Given the description of an element on the screen output the (x, y) to click on. 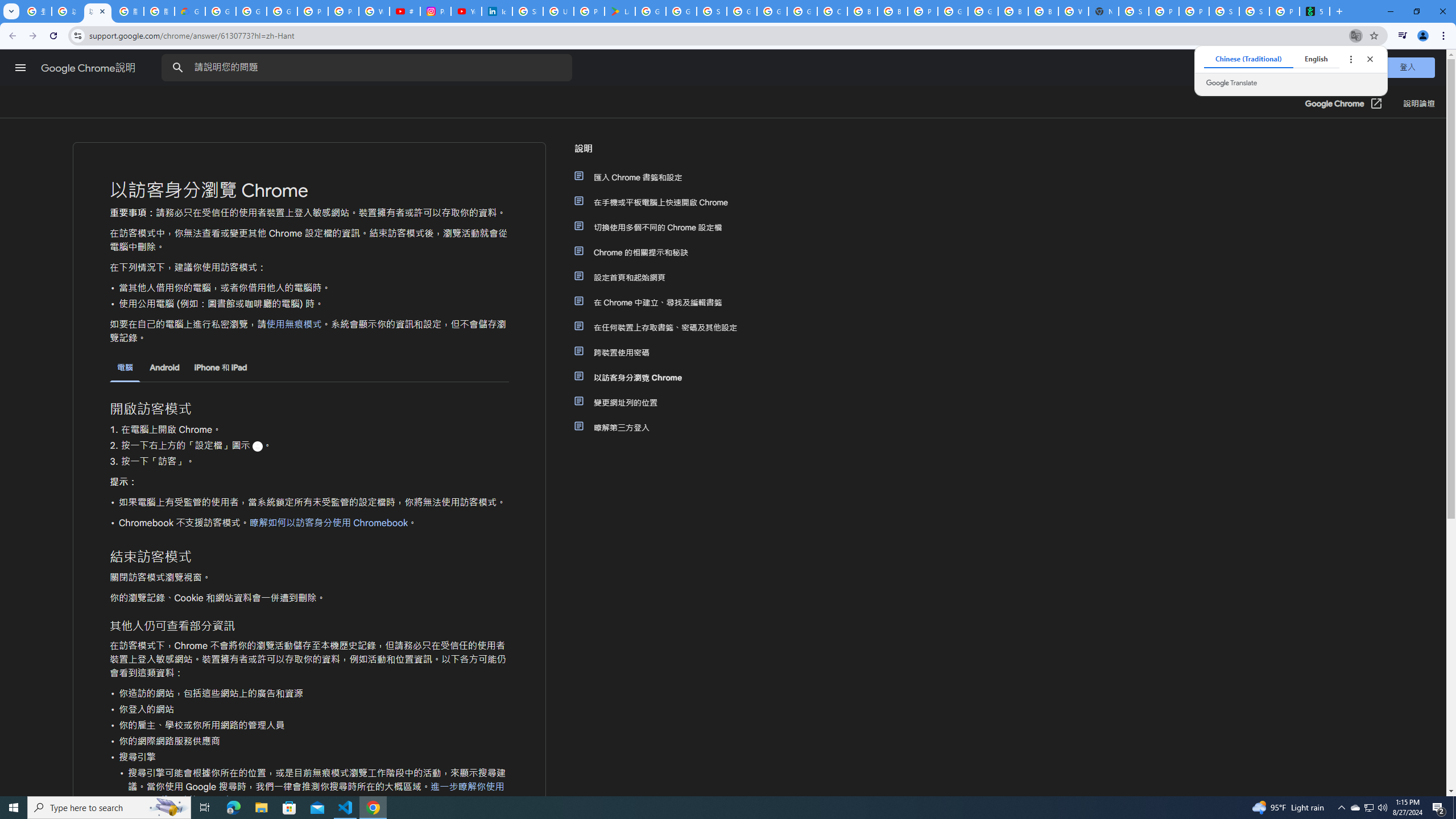
#nbabasketballhighlights - YouTube (404, 11)
English (1315, 58)
Google Cloud Platform (771, 11)
